Given the description of an element on the screen output the (x, y) to click on. 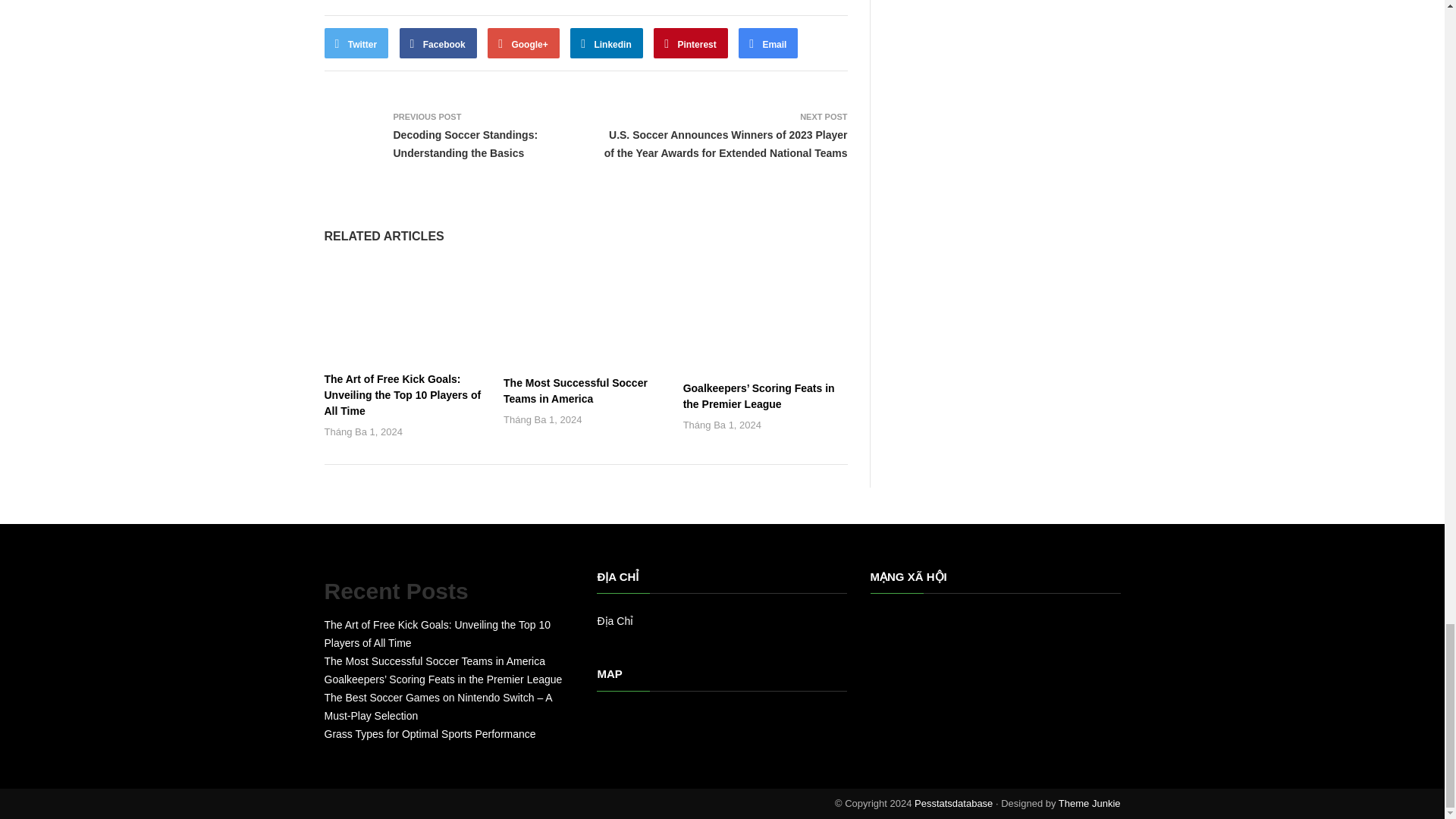
Facebook (437, 42)
Twitter (356, 42)
Pinterest (690, 42)
Linkedin (606, 42)
Email (767, 42)
Decoding Soccer Standings: Understanding the Basics (465, 143)
